Given the description of an element on the screen output the (x, y) to click on. 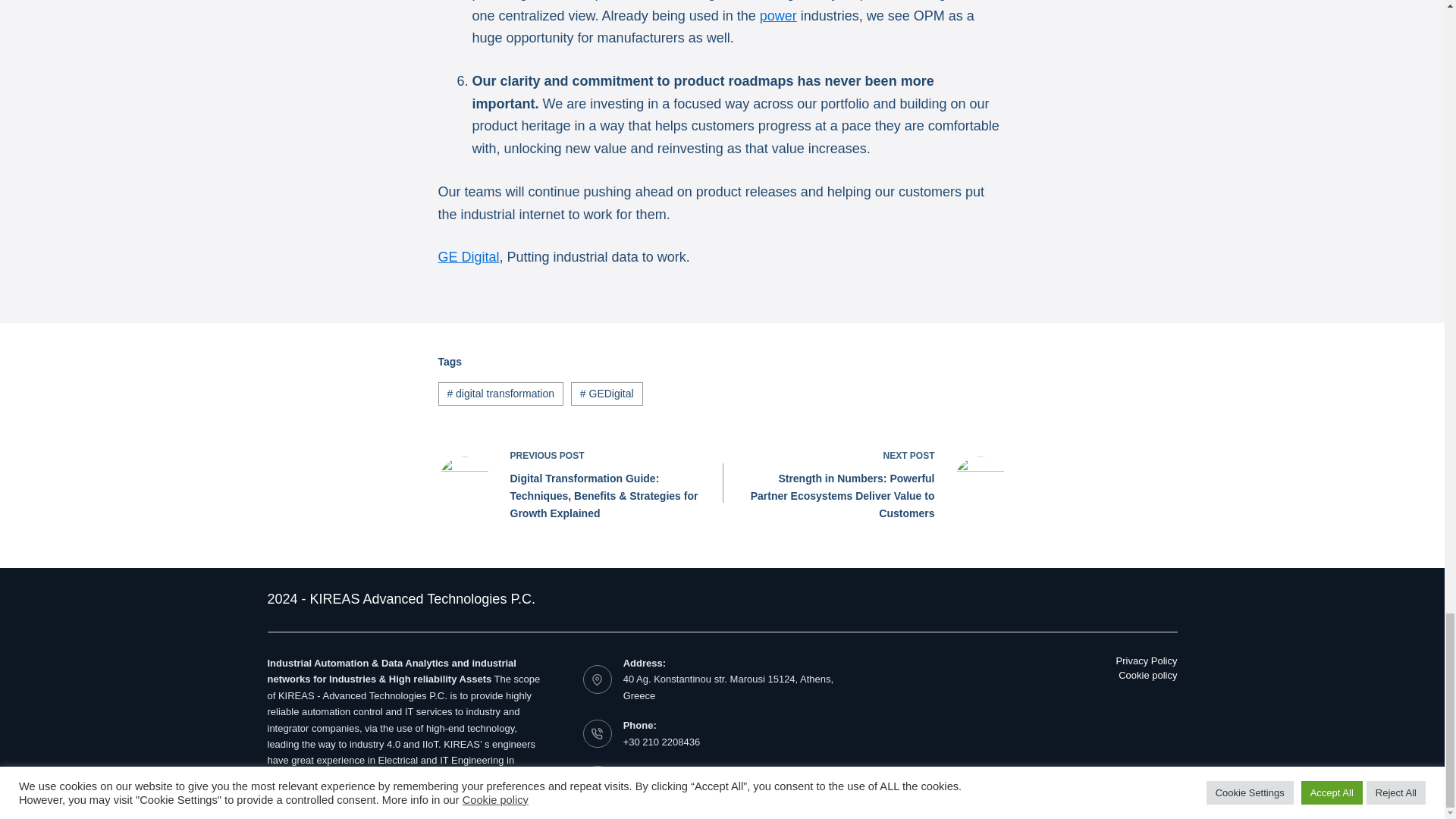
power (778, 15)
GE Digital (468, 256)
Cookie policy (1115, 675)
Privacy Policy (1115, 661)
